Given the description of an element on the screen output the (x, y) to click on. 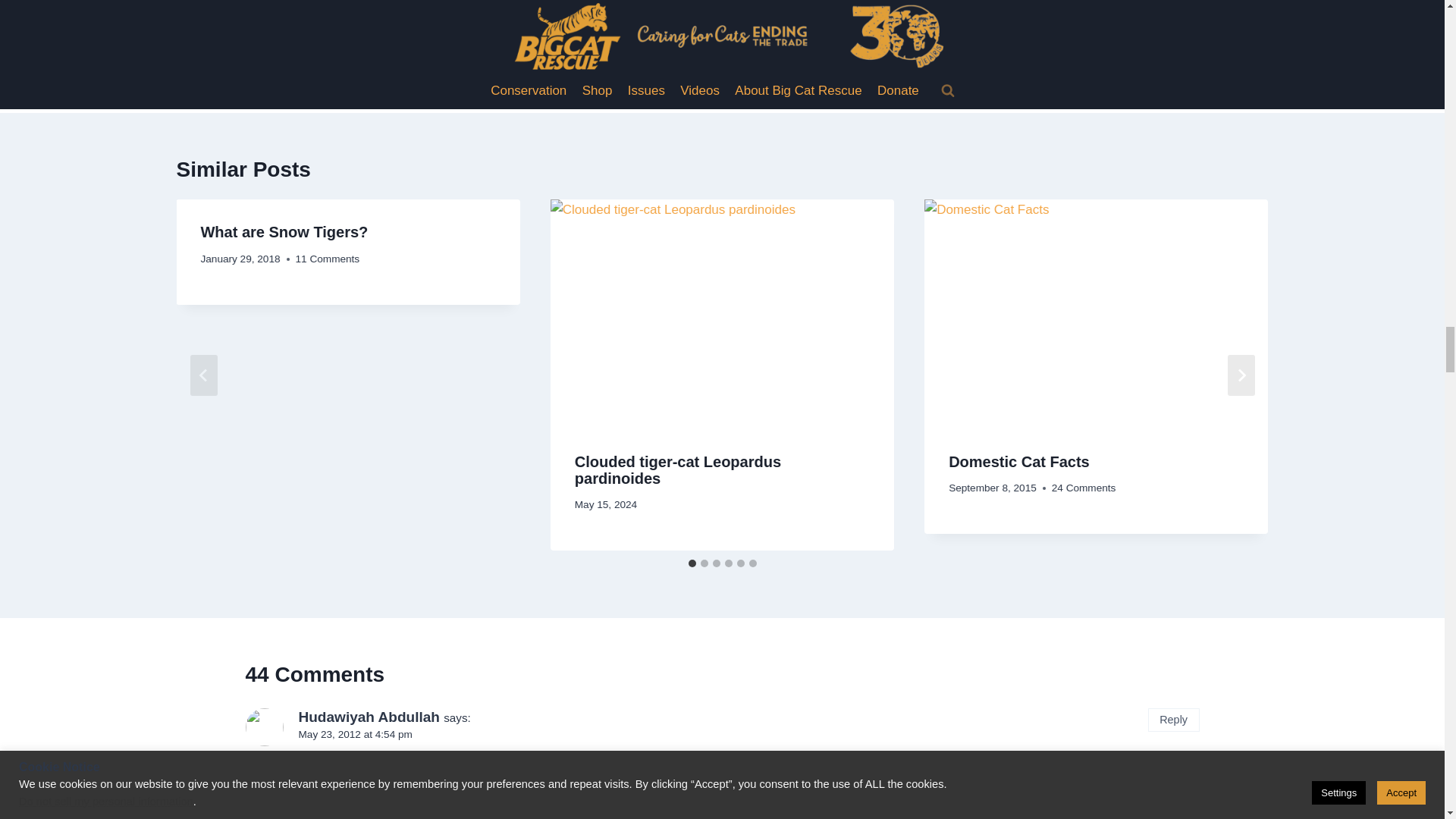
11 Comments (960, 57)
24 Comments (327, 258)
ligers (1083, 487)
